Given the description of an element on the screen output the (x, y) to click on. 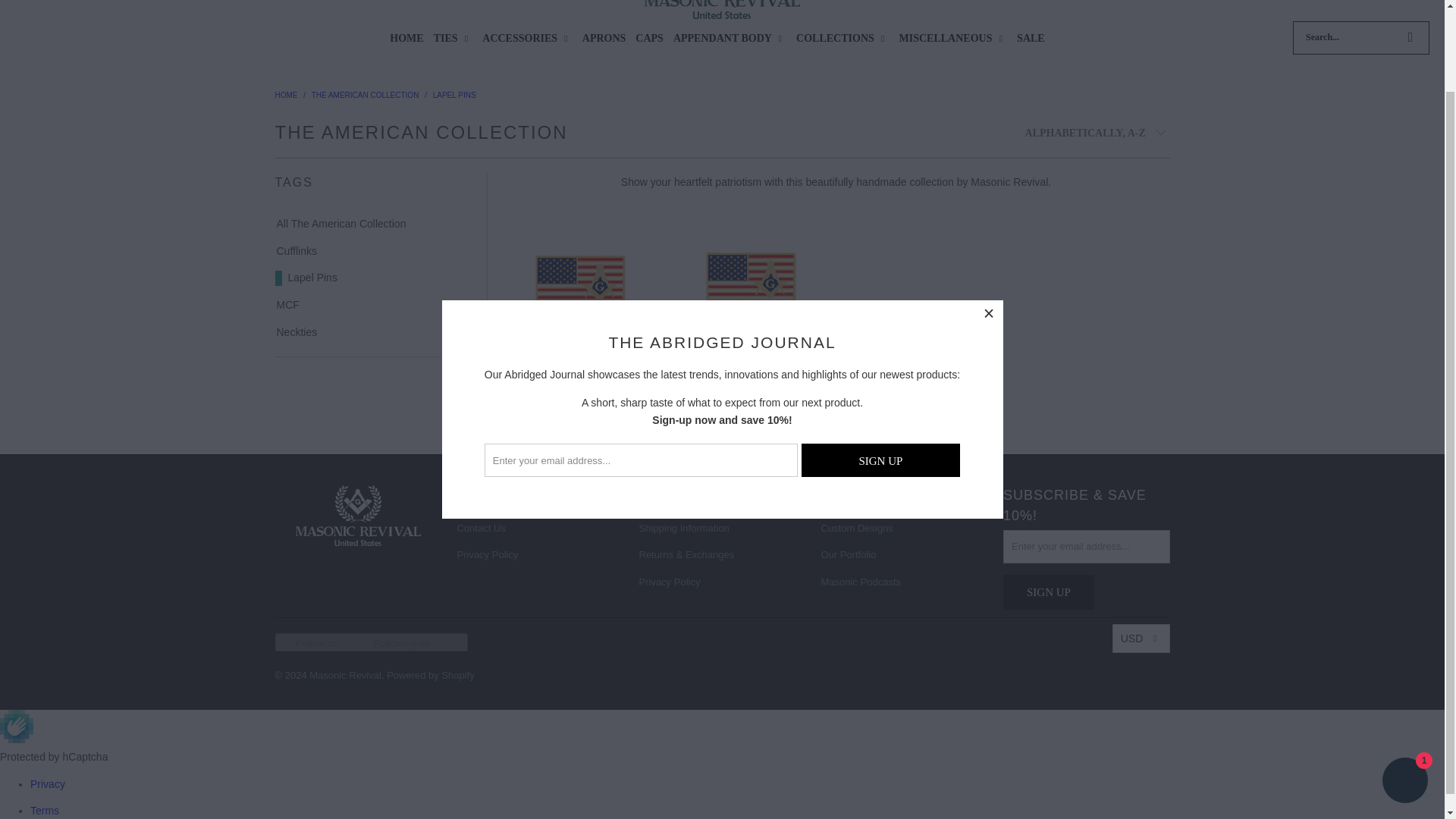
Lapel Pins (454, 94)
Masonic Revival (286, 94)
Sign Up (881, 365)
The American Collection (365, 94)
Masonic Revival (722, 10)
Shopify online store chat (1404, 686)
Sign Up (1048, 591)
